Given the description of an element on the screen output the (x, y) to click on. 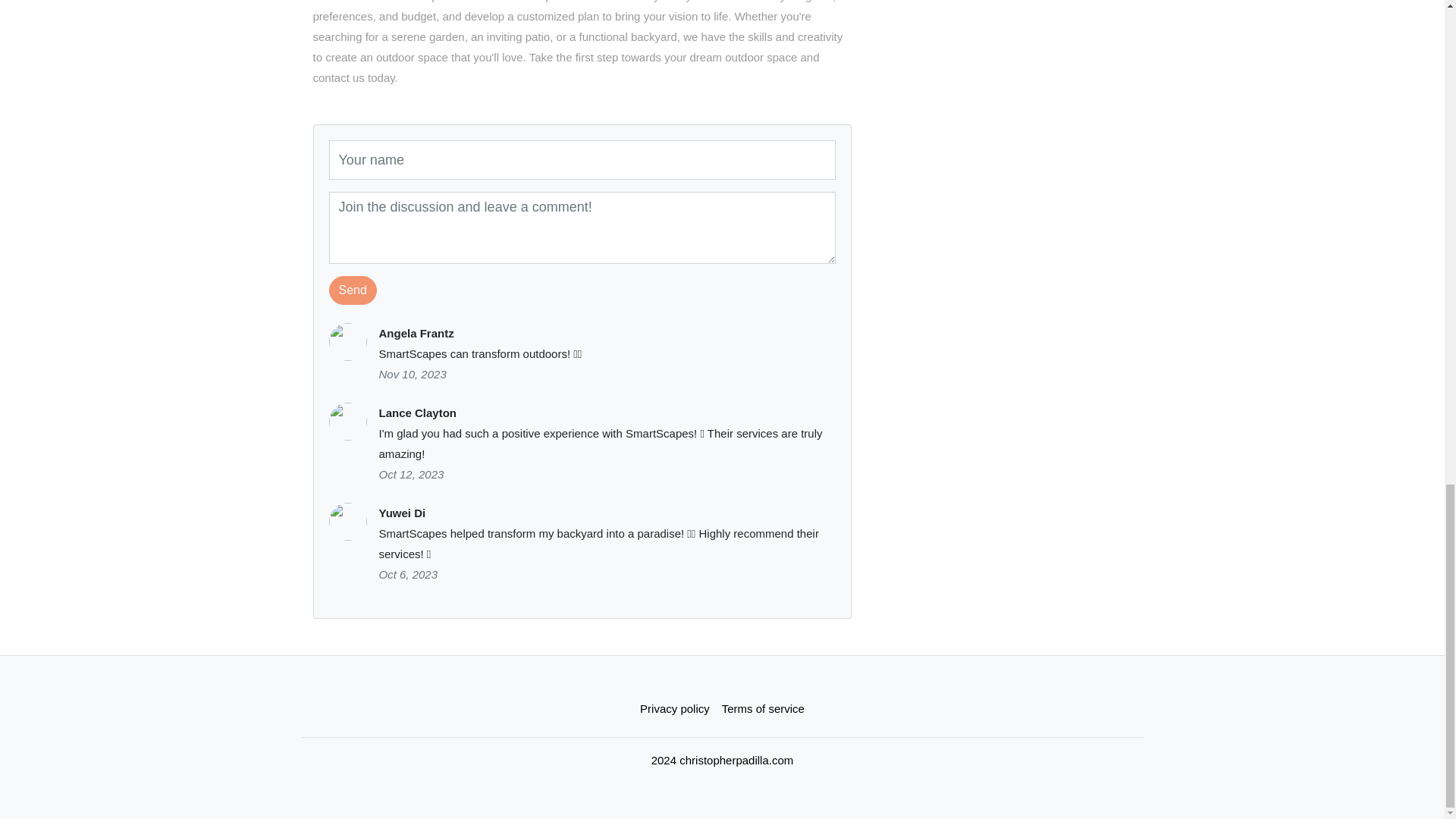
Privacy policy (674, 708)
Send (353, 290)
Send (353, 290)
Terms of service (763, 708)
